Given the description of an element on the screen output the (x, y) to click on. 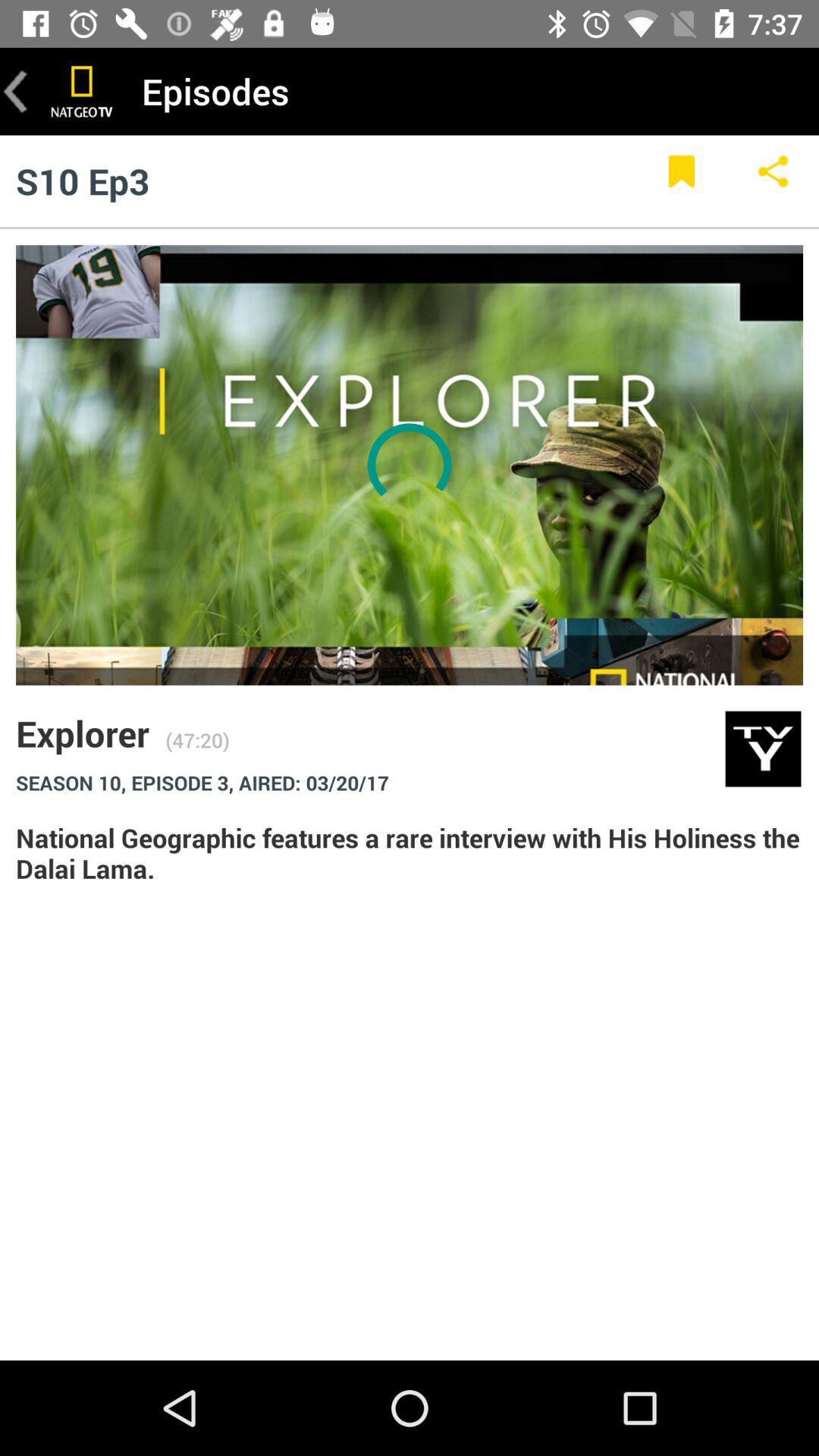
open item to the right of the s10 ep3 (681, 180)
